Given the description of an element on the screen output the (x, y) to click on. 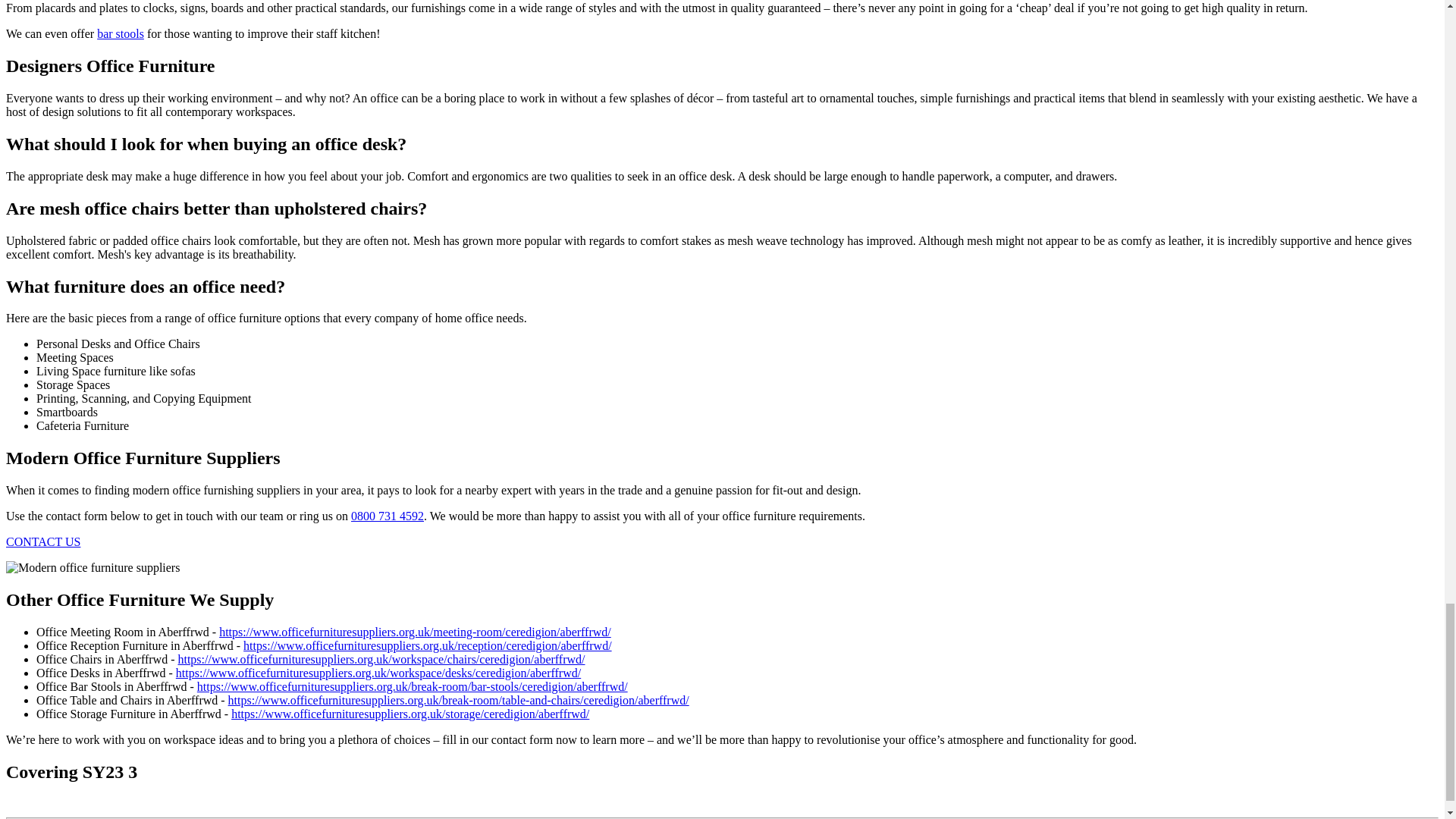
Home (92, 567)
